Given the description of an element on the screen output the (x, y) to click on. 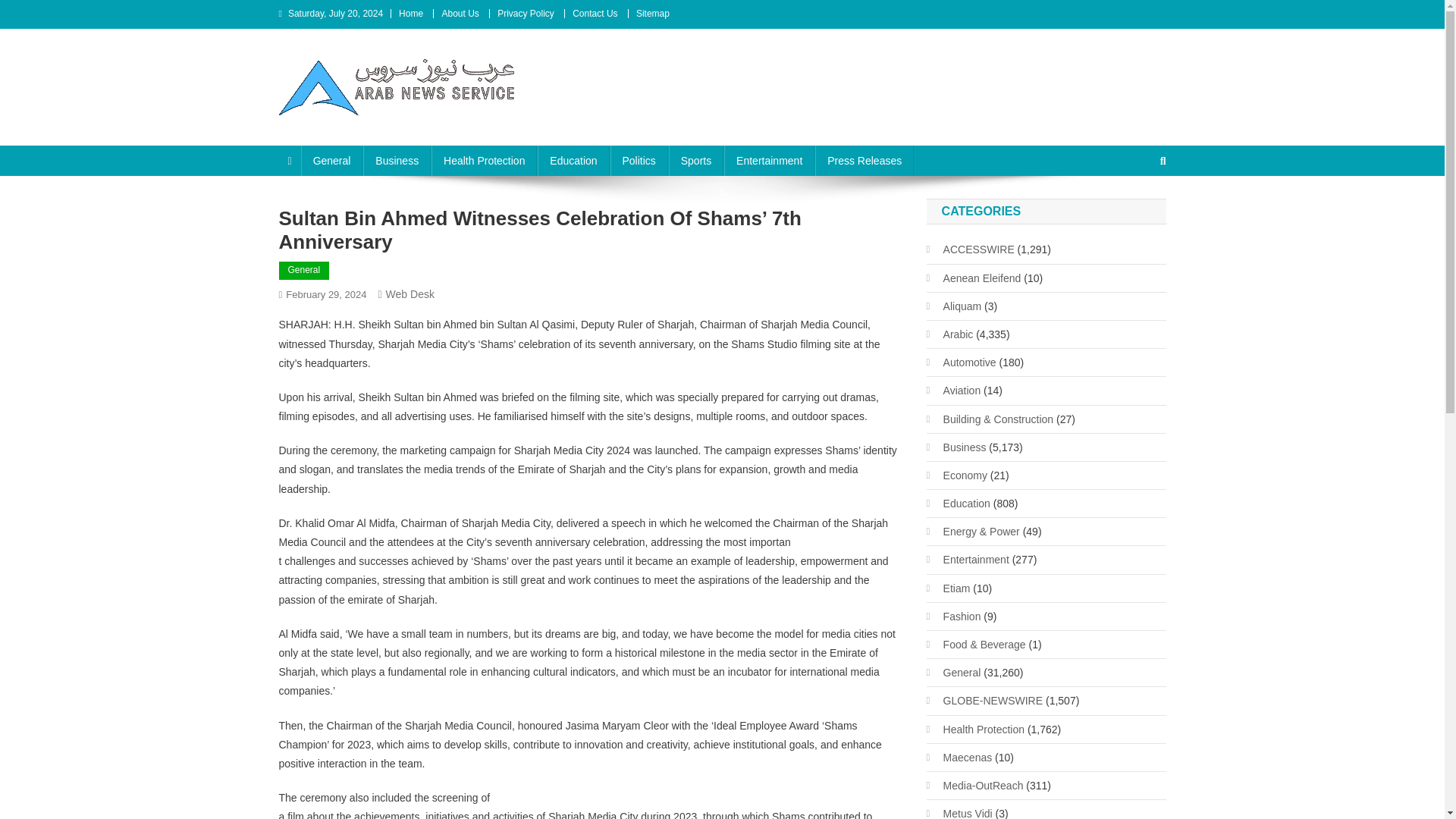
Contact Us (594, 13)
Sports (695, 160)
Home (410, 13)
Business (396, 160)
General (331, 160)
February 29, 2024 (325, 294)
Health Protection (483, 160)
About Us (460, 13)
Entertainment (768, 160)
Arab News Service (388, 130)
Education (572, 160)
Search (1133, 211)
Aenean Eleifend (974, 278)
Aliquam (953, 306)
Web Desk (409, 294)
